Given the description of an element on the screen output the (x, y) to click on. 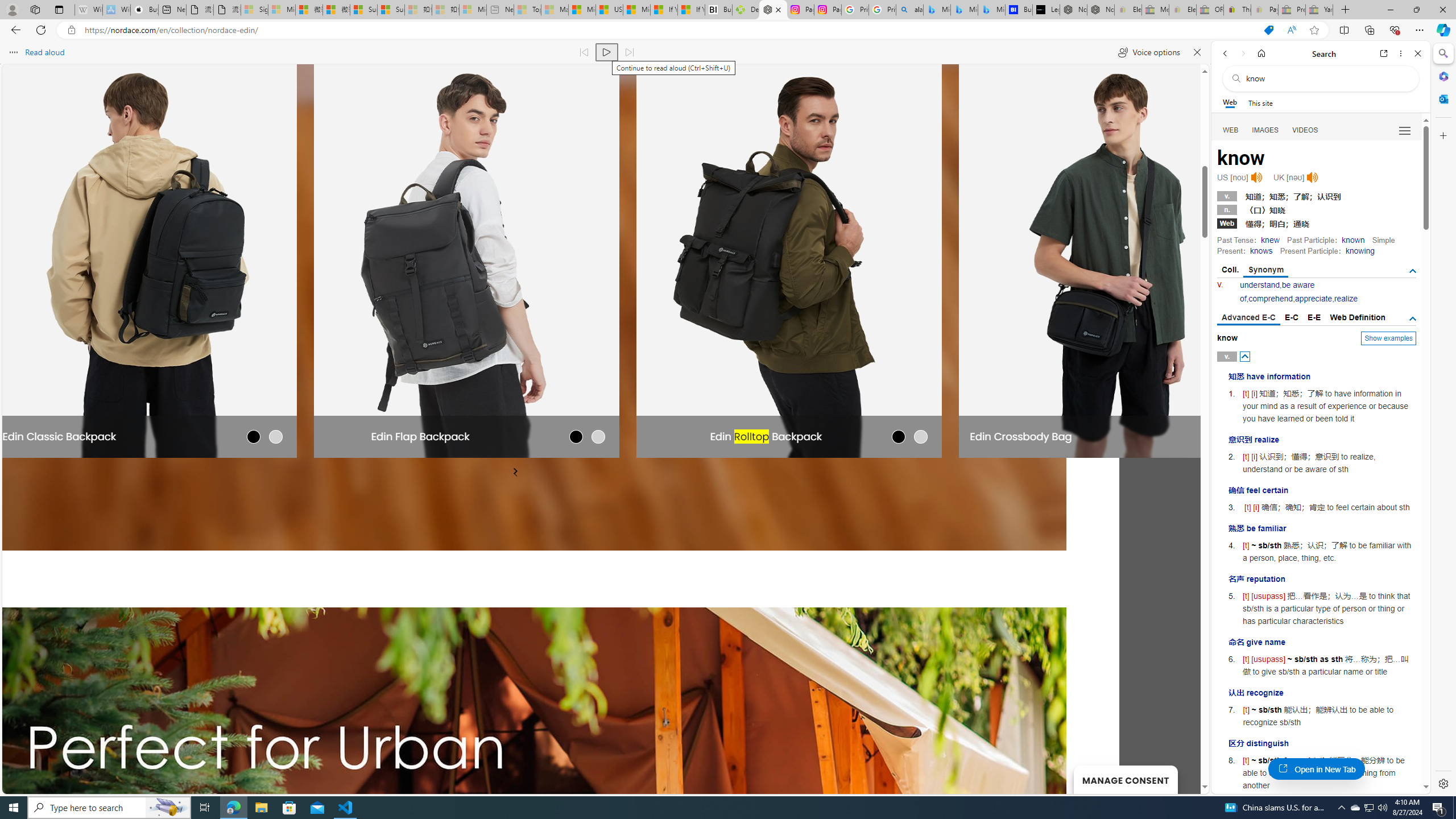
knowing (1359, 250)
Press Room - eBay Inc. - Sleeping (1292, 9)
New tab - Sleeping (499, 9)
Close read aloud (1196, 52)
Marine life - MSN - Sleeping (554, 9)
Top Stories - MSN - Sleeping (527, 9)
Open link in new tab (1383, 53)
New tab (171, 9)
knows (1260, 250)
Nordace - Nordace Edin Collection (773, 9)
Microsoft Bing Travel - Shangri-La Hotel Bangkok (991, 9)
